Given the description of an element on the screen output the (x, y) to click on. 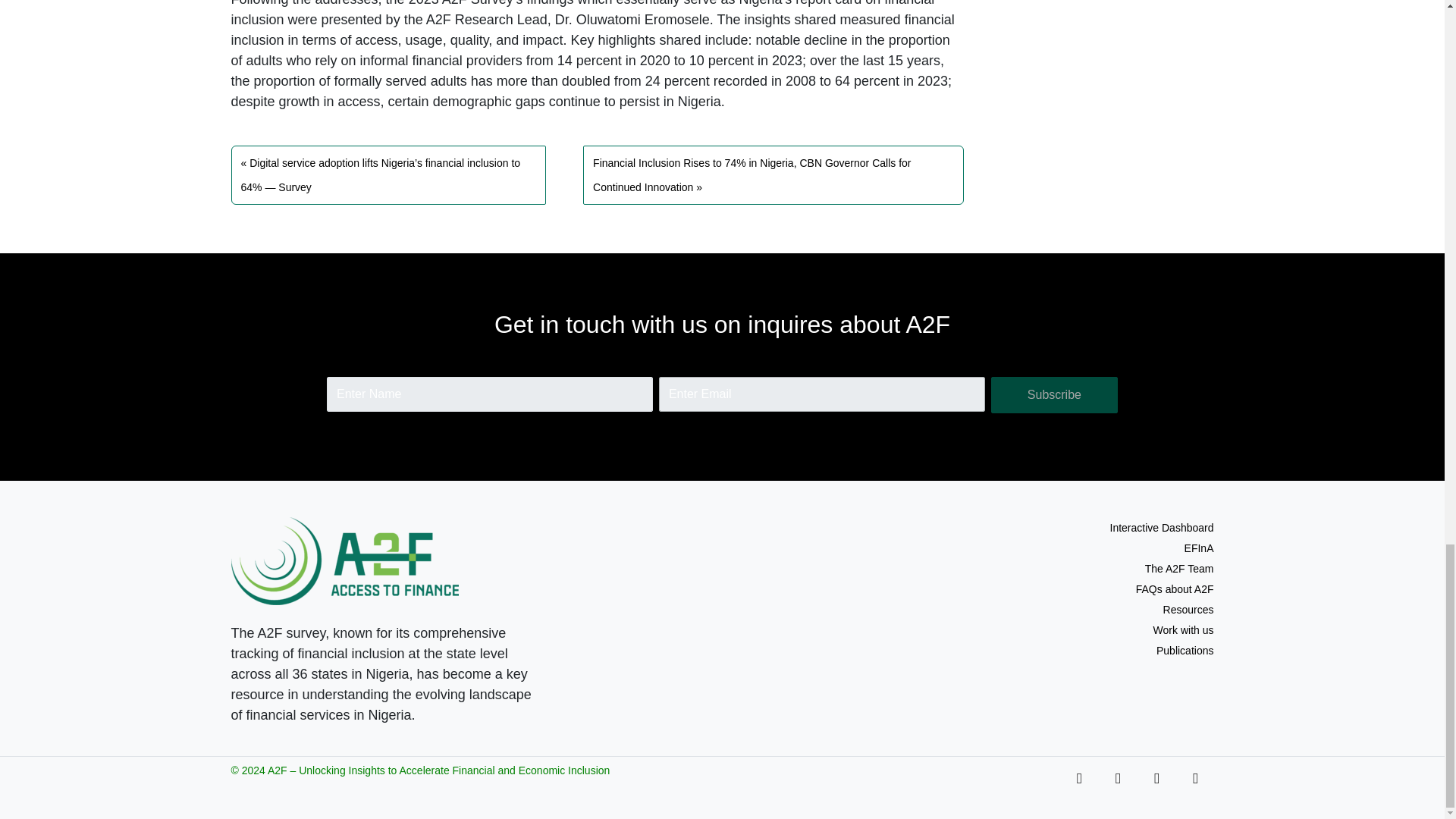
Subscribe (1054, 394)
